Given the description of an element on the screen output the (x, y) to click on. 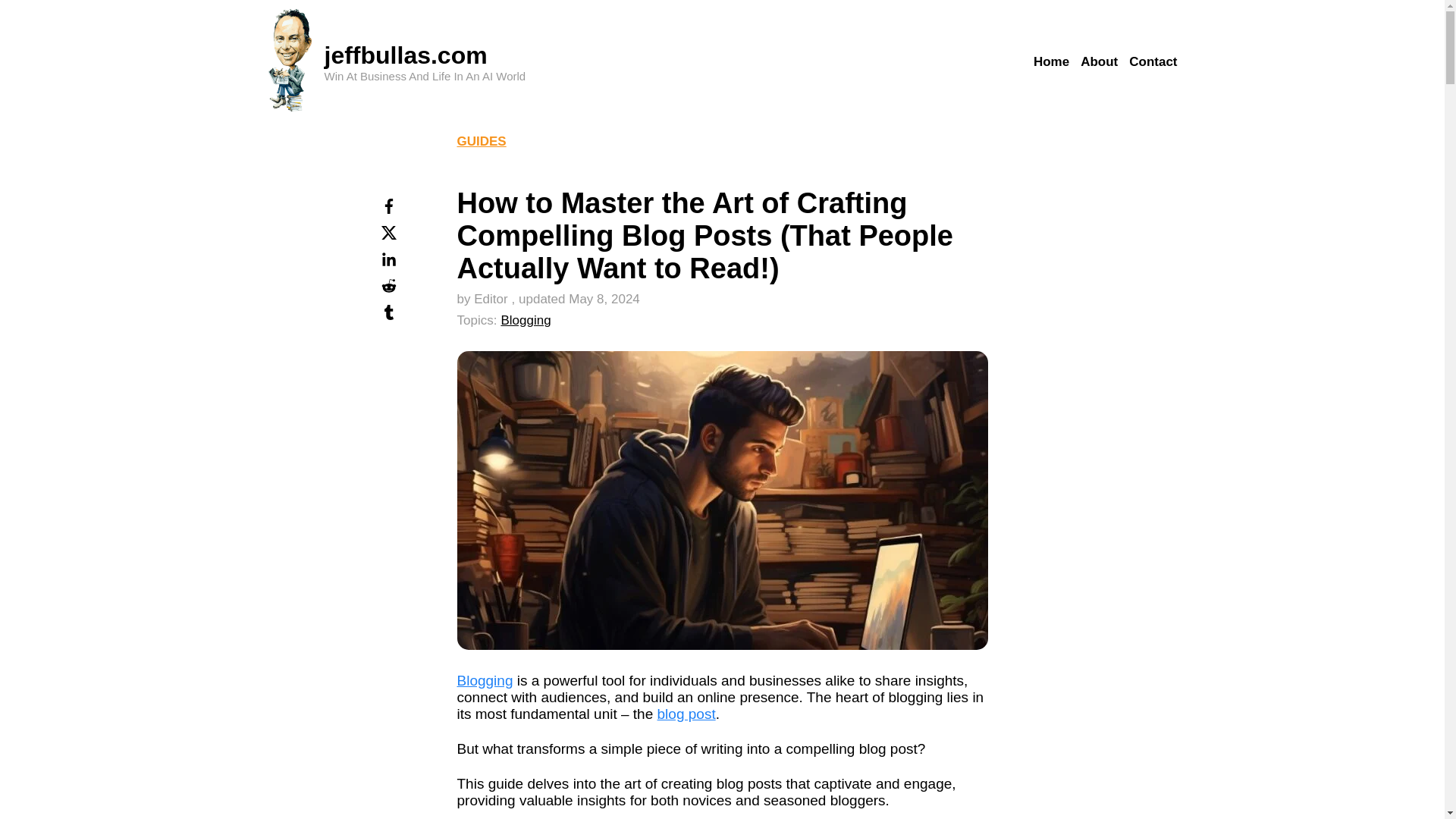
Blogging (525, 319)
Home (1050, 61)
Blogging (484, 680)
jeffbullas.com (405, 53)
GUIDES (481, 141)
About (1099, 61)
Contact (1152, 61)
blog post (687, 713)
